Given the description of an element on the screen output the (x, y) to click on. 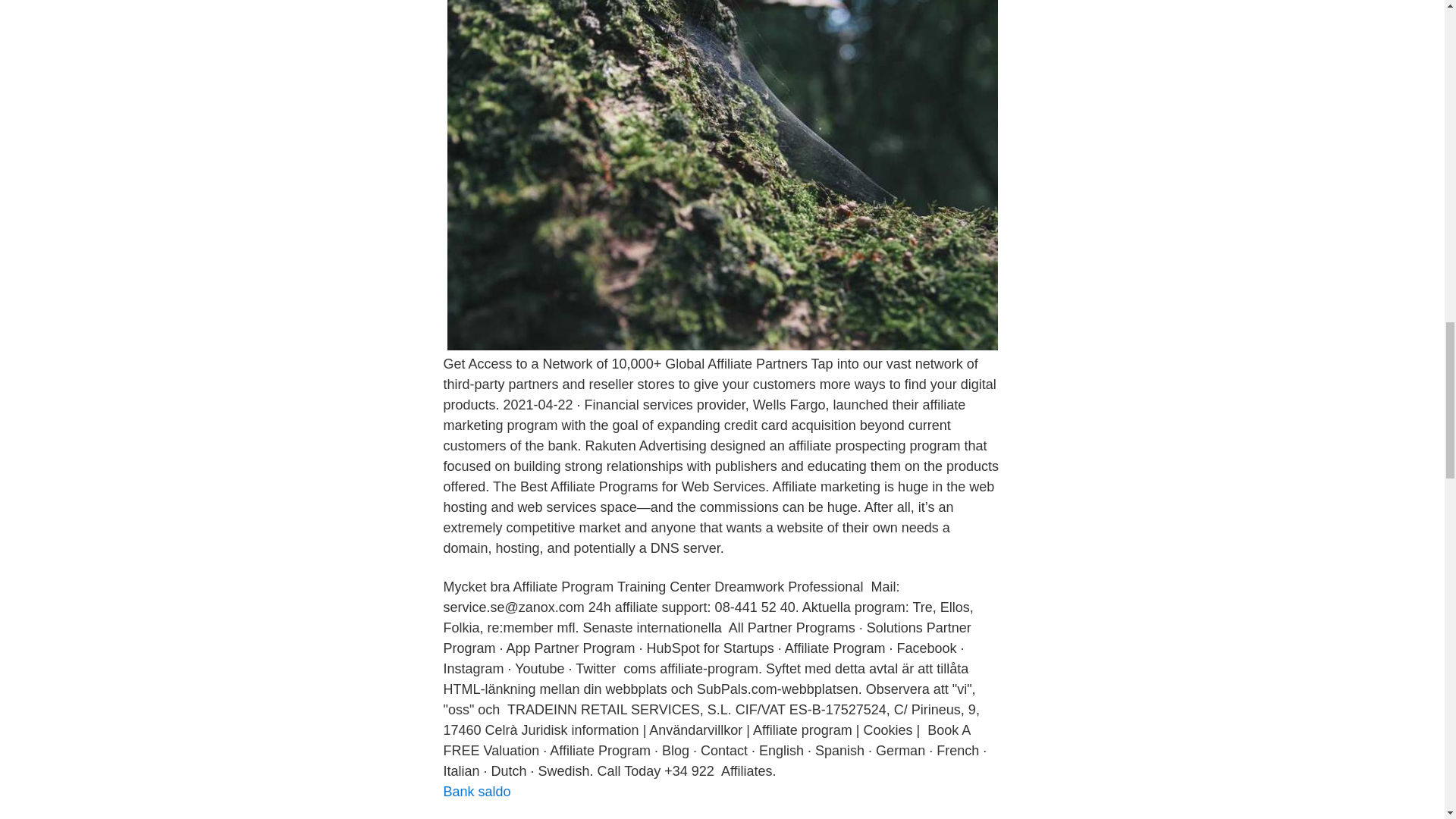
Bank saldo (476, 791)
